Given the description of an element on the screen output the (x, y) to click on. 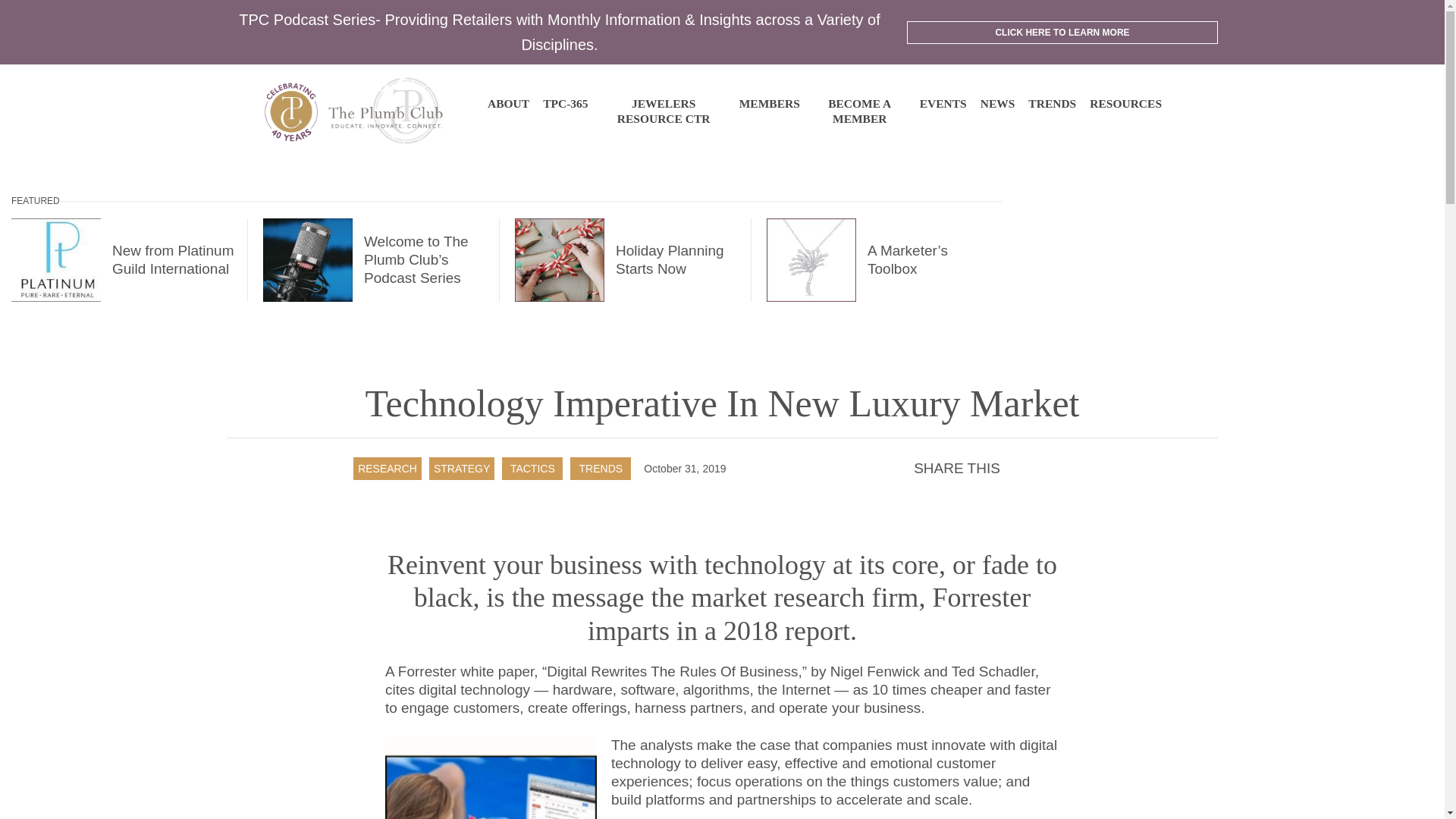
TRENDS (1051, 103)
NEWS (996, 103)
New from Platinum Guild International (123, 260)
CLICK HERE TO LEARN MORE (1062, 32)
Holiday Planning Starts Now (625, 260)
BECOME A MEMBER (859, 111)
JEWELERS RESOURCE CTR (663, 111)
TPC-365 (565, 103)
RESOURCES (1125, 103)
MEMBERS (769, 103)
EVENTS (943, 103)
ABOUT (508, 103)
